Given the description of an element on the screen output the (x, y) to click on. 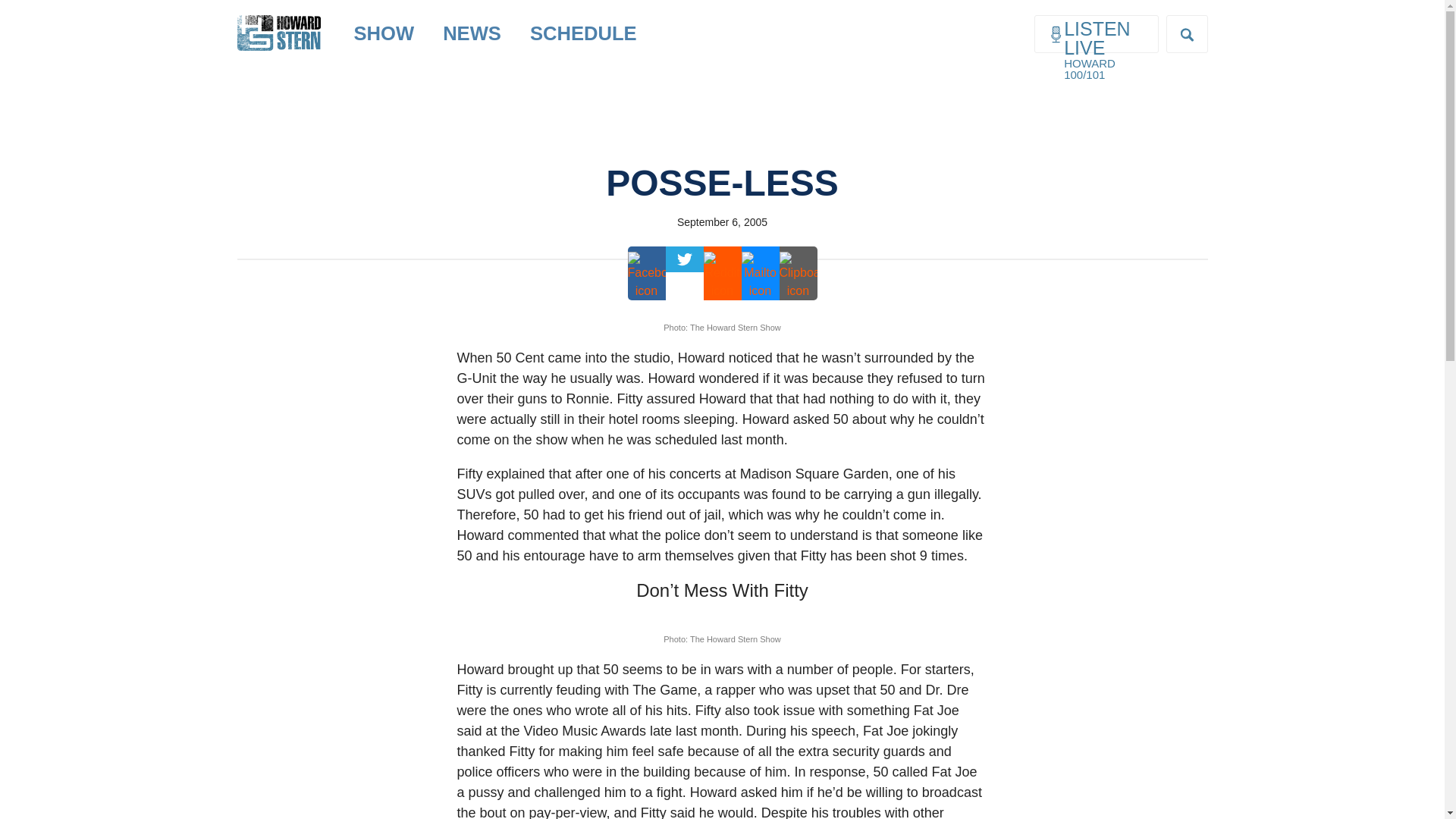
SCHEDULE (582, 33)
Howard Stern (277, 20)
SHOW (384, 33)
Search (24, 9)
MAGNIFYING GLASS (1187, 34)
NEWS (471, 33)
